Given the description of an element on the screen output the (x, y) to click on. 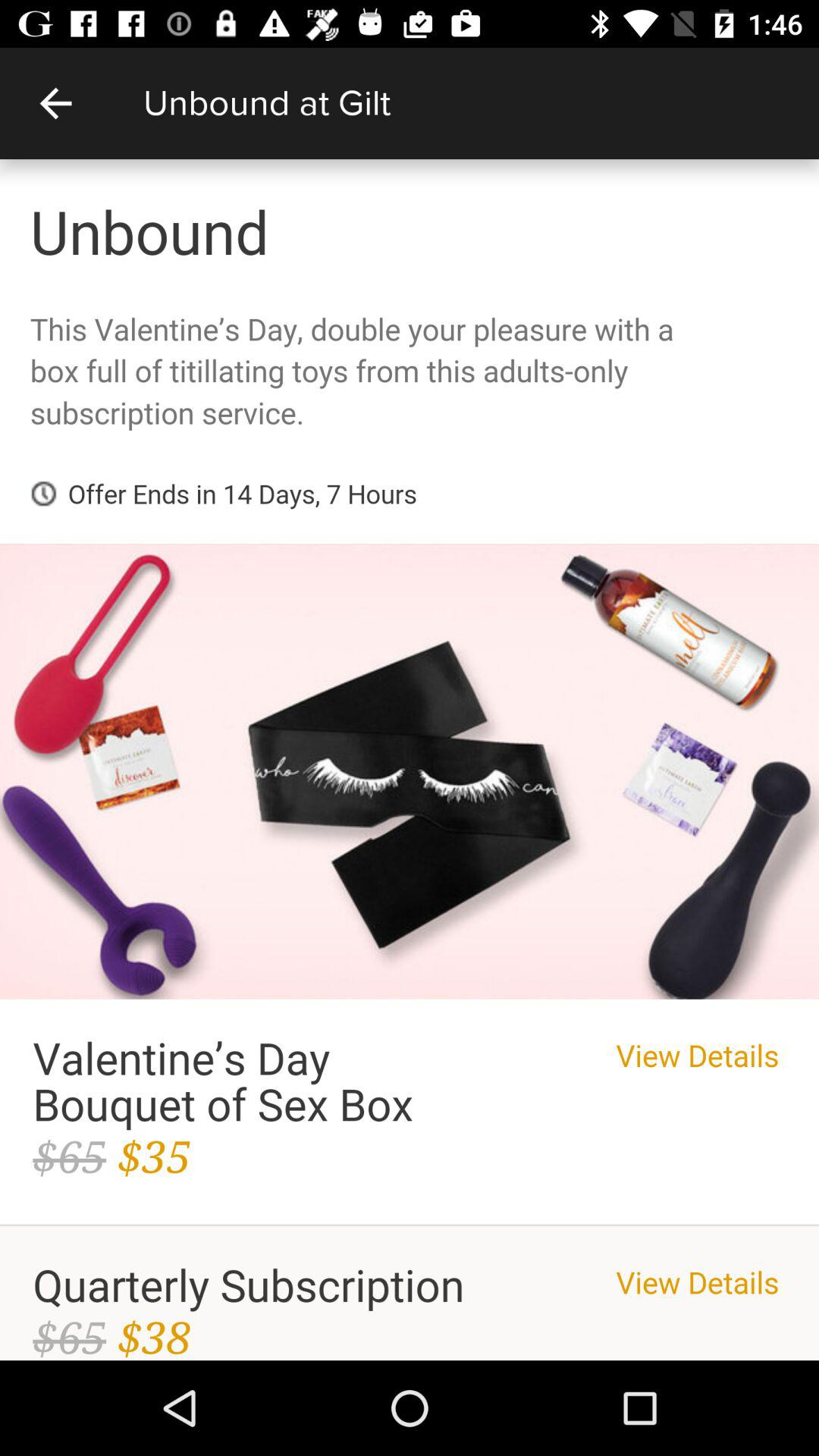
image icone (409, 759)
